Given the description of an element on the screen output the (x, y) to click on. 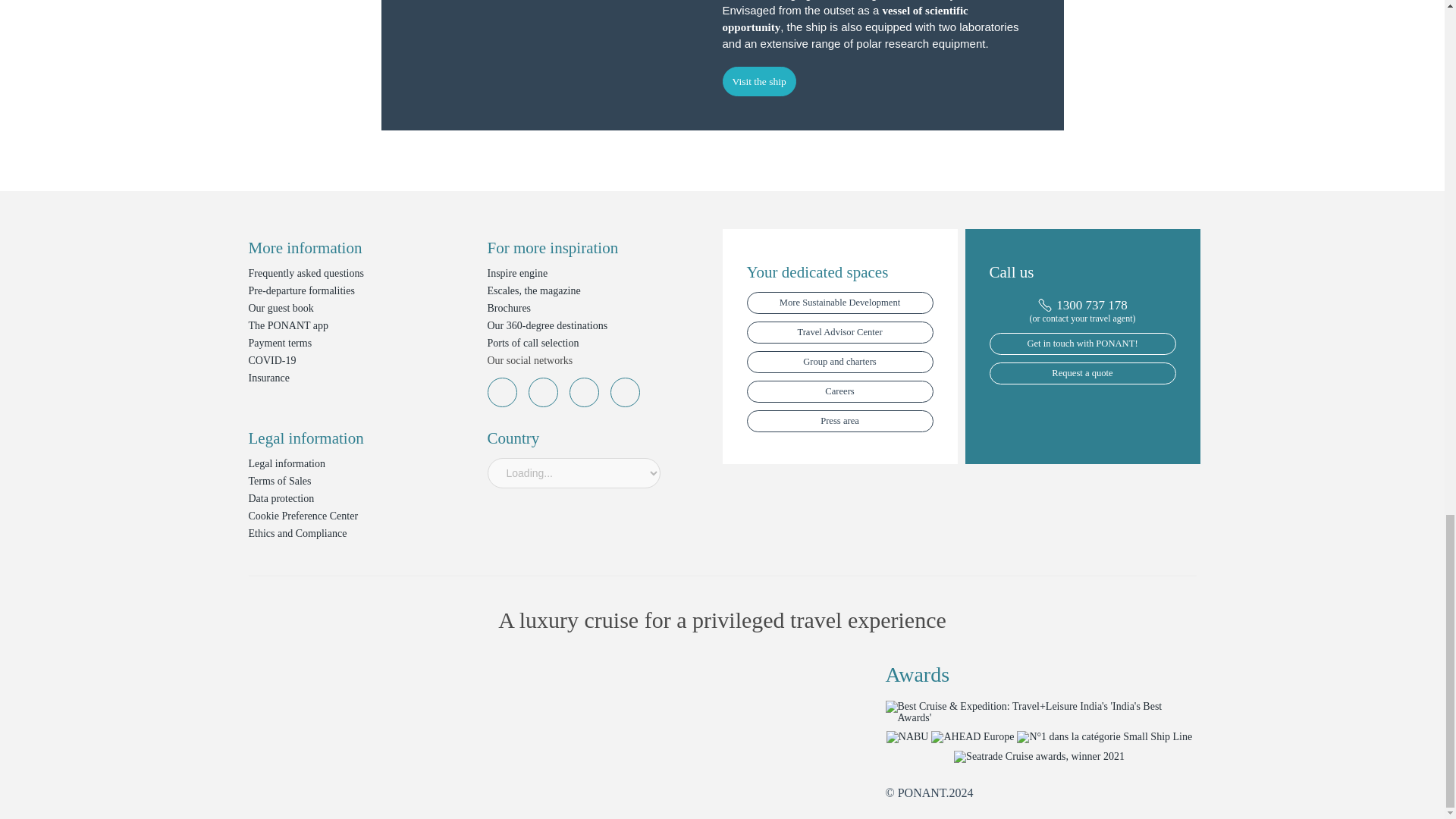
Call us (1081, 305)
